Given the description of an element on the screen output the (x, y) to click on. 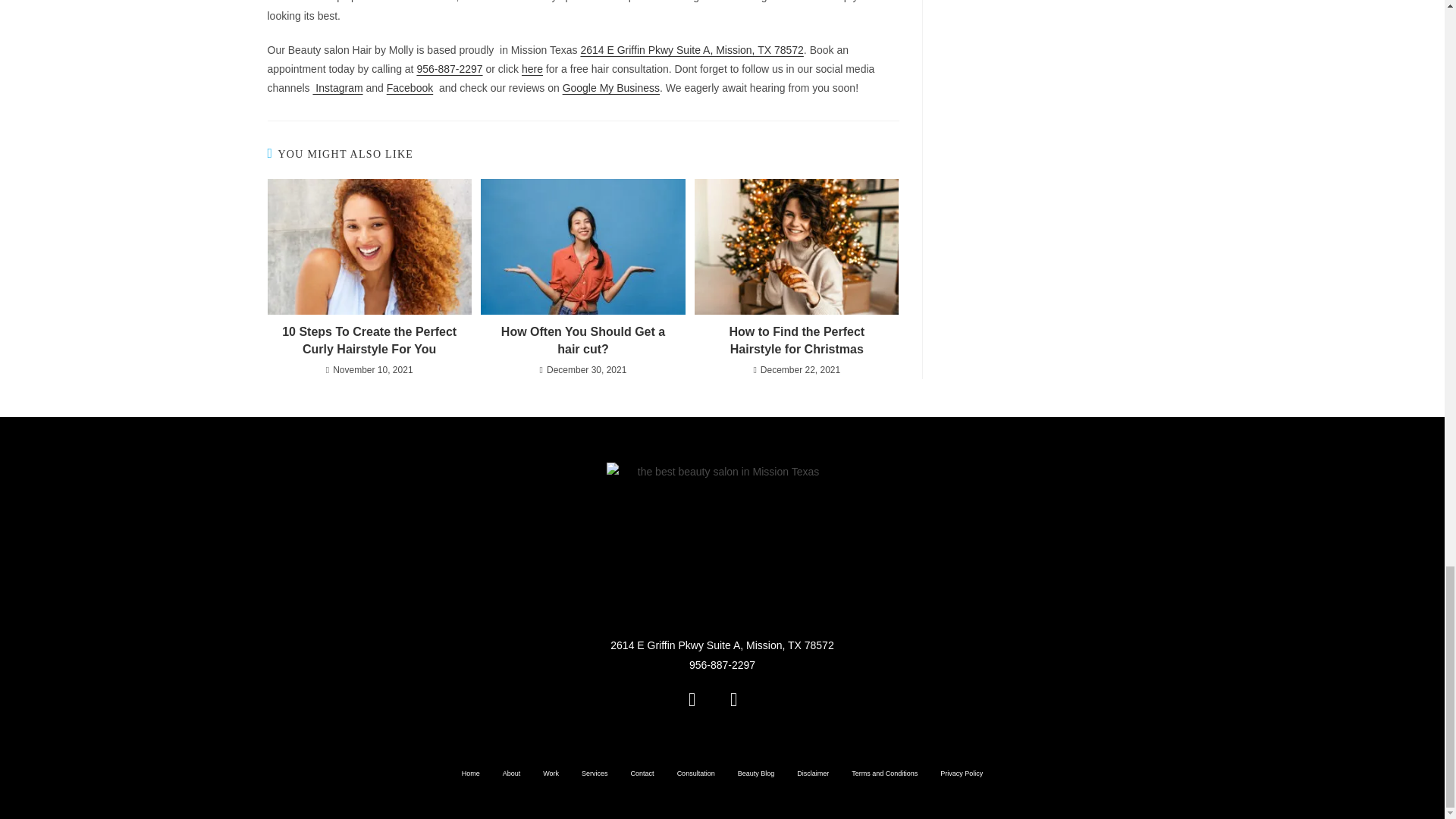
Google My Business (610, 87)
Facebook (409, 87)
10 Steps To Create the Perfect Curly Hairstyle For You (368, 340)
 Instagram (337, 87)
10 Steps To Create the Perfect Curly Hairstyle For You 2 (368, 247)
2614 E Griffin Pkwy Suite A, Mission, TX 78572 (691, 50)
How to Find the Perfect Hairstyle for Christmas 4 (796, 247)
How Often You Should Get a hair cut? (582, 340)
956-887-2297 (448, 69)
How Often You Should Get a hair cut? 3 (582, 247)
here (532, 69)
How to Find the Perfect Hairstyle for Christmas (796, 340)
